Given the description of an element on the screen output the (x, y) to click on. 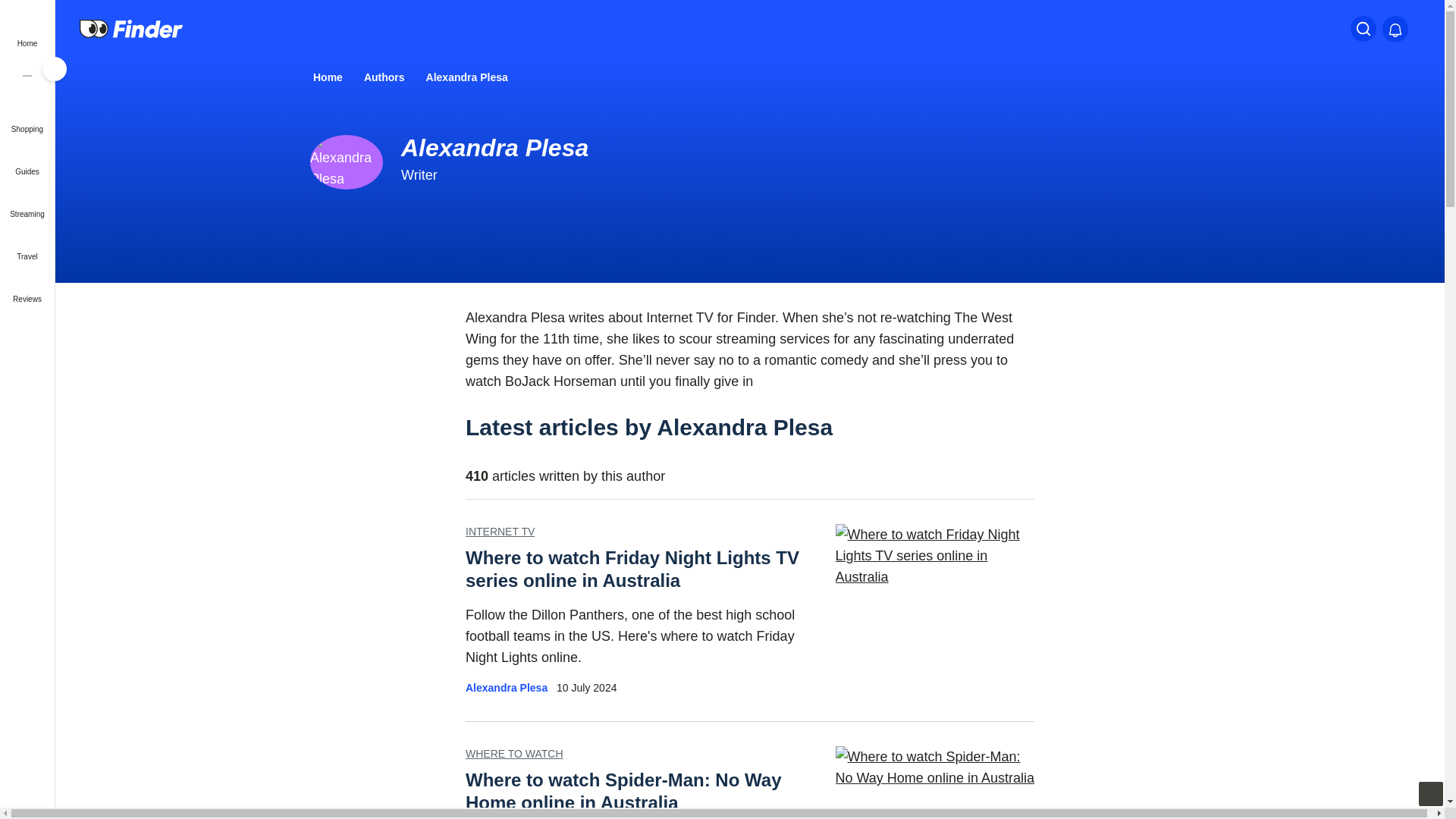
Authors (382, 77)
INTERNET TV (499, 531)
Home (326, 77)
Back to Top (1430, 793)
